Given the description of an element on the screen output the (x, y) to click on. 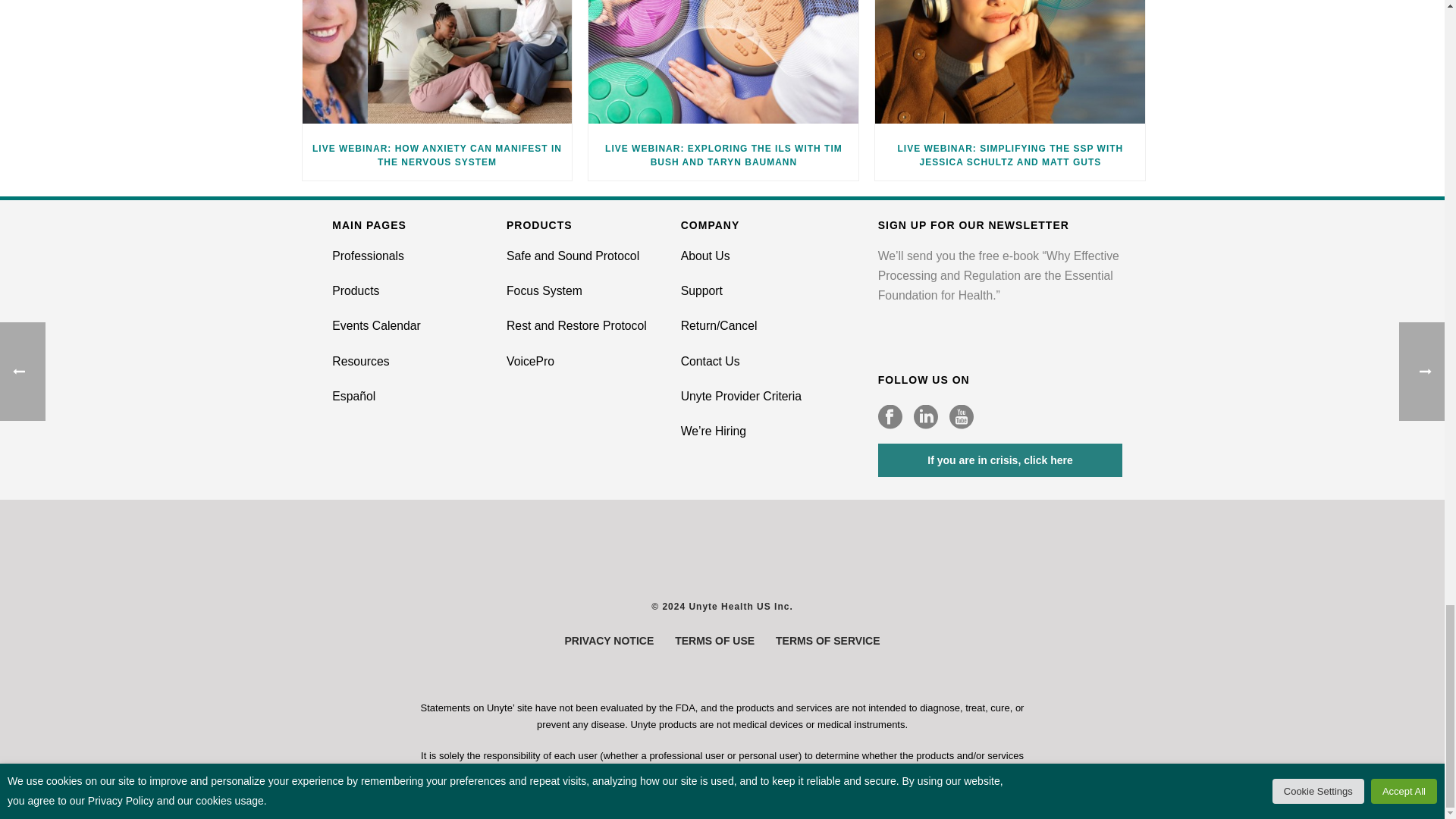
Follow Us on youtube (961, 417)
Live Webinar: How Anxiety Can Manifest in the Nervous System (436, 65)
Follow Us on linkedin (925, 417)
Follow Us on facebook (889, 417)
